Given the description of an element on the screen output the (x, y) to click on. 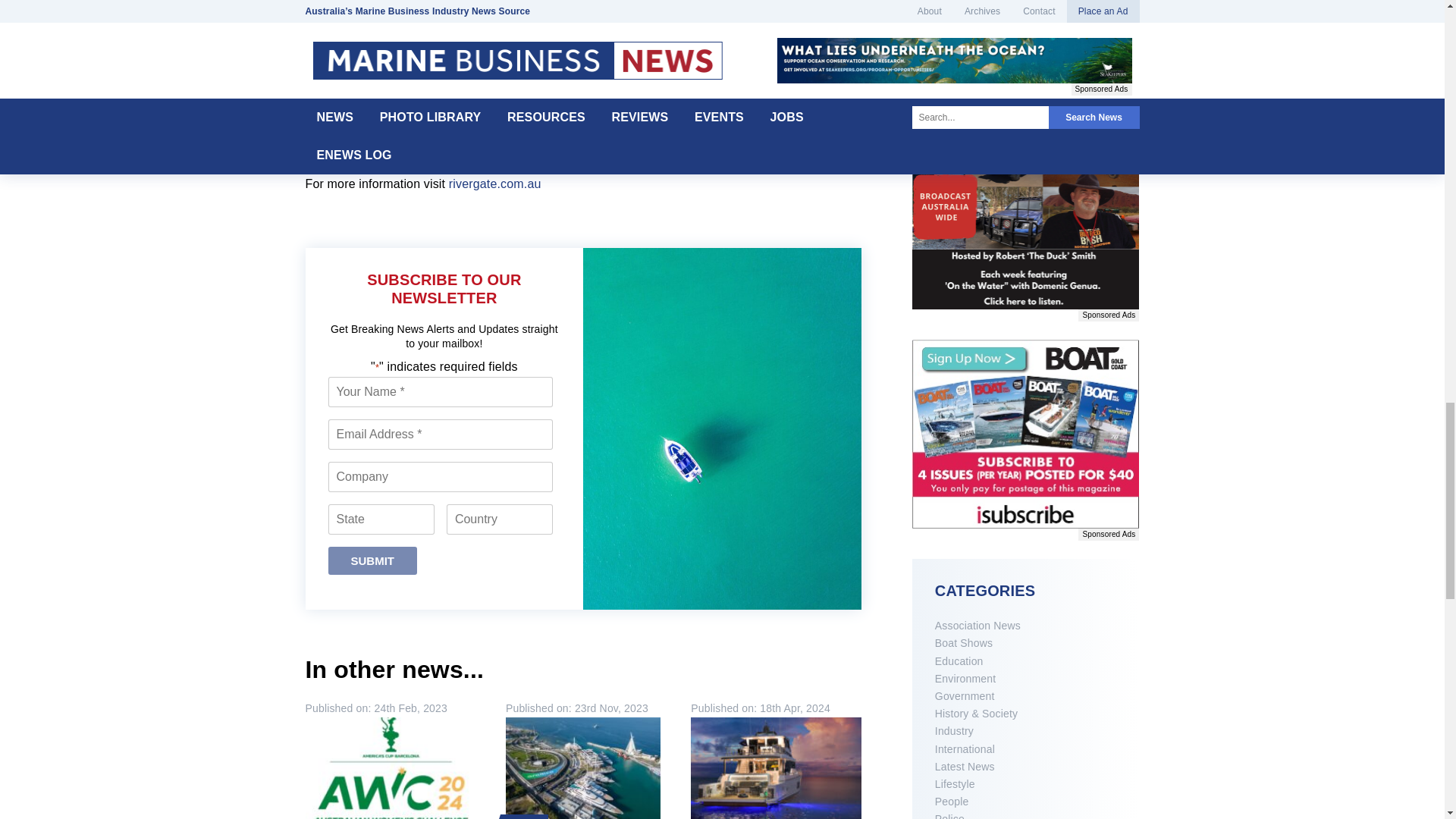
rivergate.com.au (494, 183)
Submit (373, 560)
Submit (373, 560)
